Given the description of an element on the screen output the (x, y) to click on. 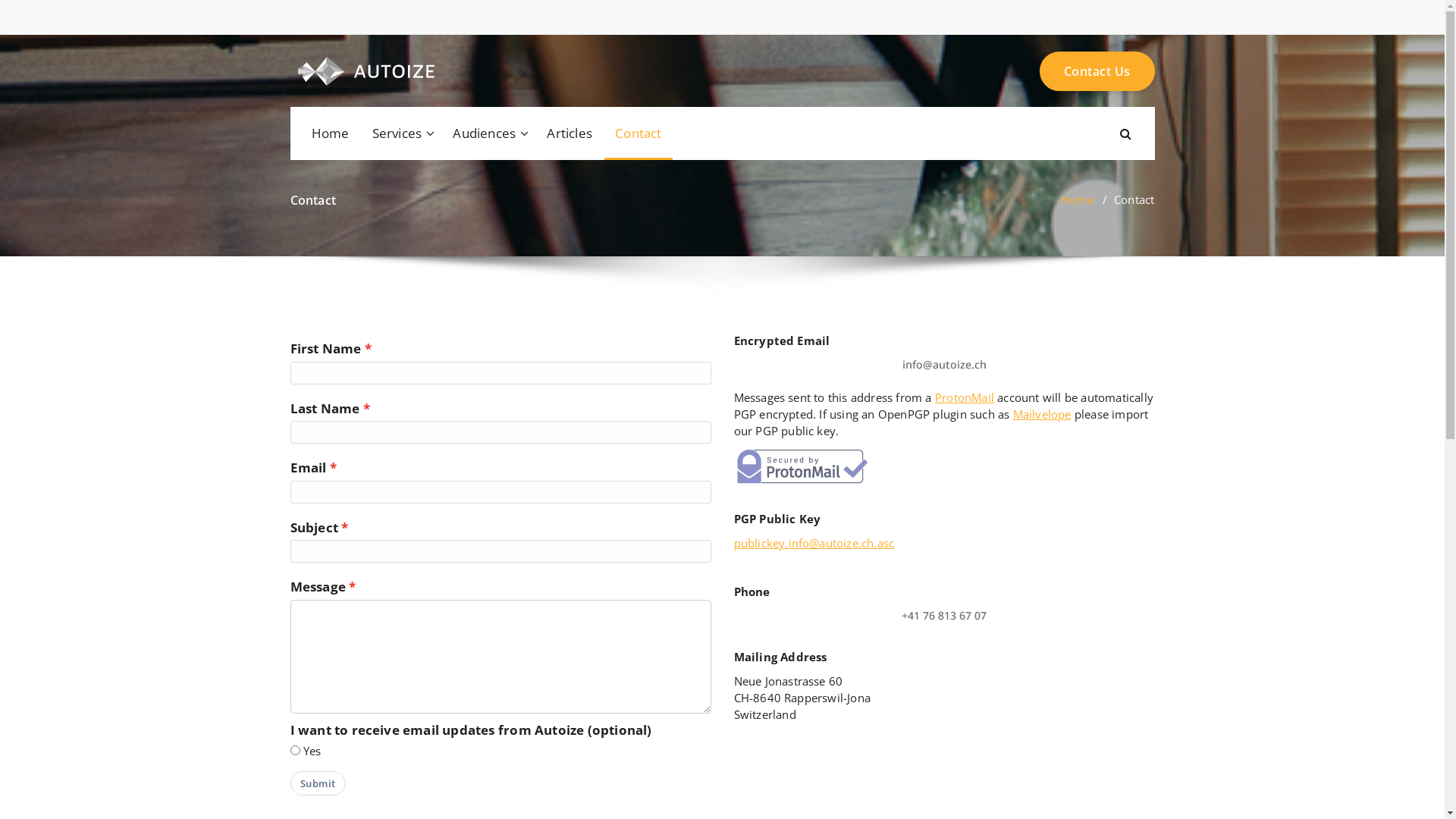
Articles Element type: text (569, 133)
Mailvelope Element type: text (1042, 413)
Contact Us Element type: text (1096, 71)
Audiences Element type: text (488, 133)
Contact Element type: text (637, 133)
Submit Element type: text (317, 783)
Home Element type: text (1076, 199)
ProtonMail Element type: text (964, 396)
Services Element type: text (401, 133)
Home Element type: text (329, 133)
publickey.info@autoize.ch.asc Element type: text (814, 542)
